Given the description of an element on the screen output the (x, y) to click on. 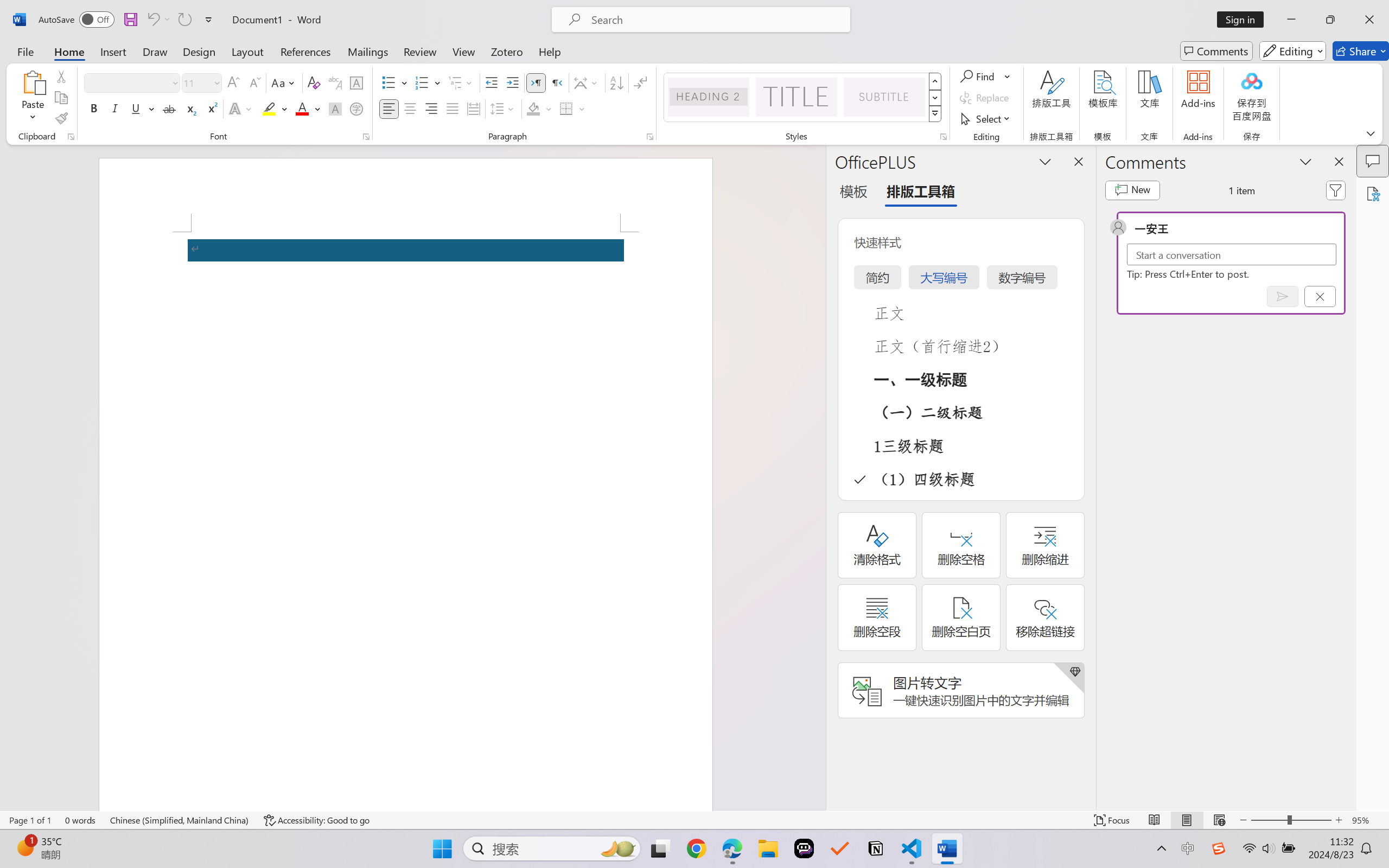
Subtitle (883, 96)
New comment (1132, 190)
